Given the description of an element on the screen output the (x, y) to click on. 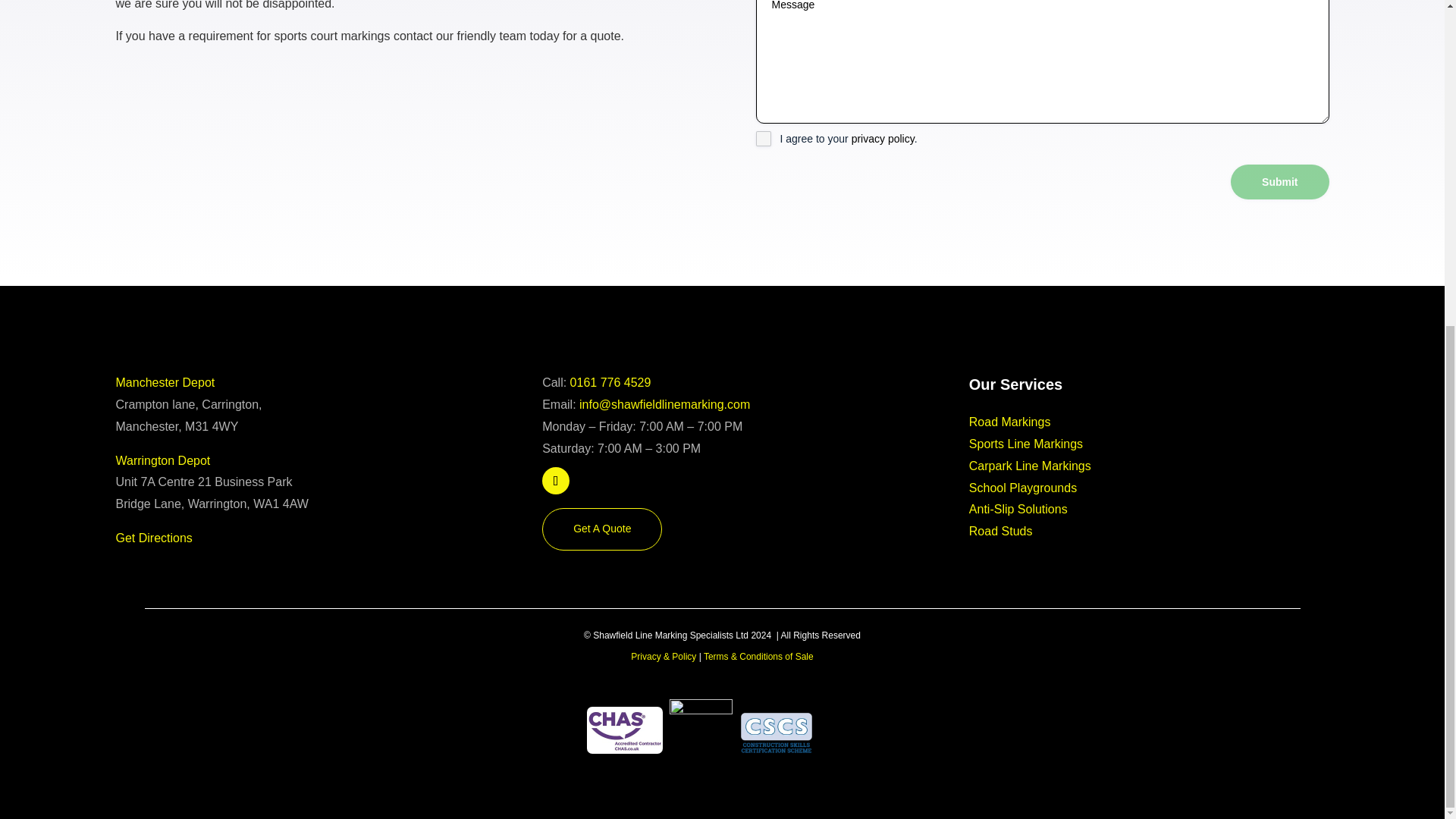
privacy policy (882, 138)
Get A Quote (601, 528)
Get Directions (153, 537)
0161 776 4529 (610, 382)
Follow on Facebook (555, 480)
Submit (1278, 181)
Road Markings (1010, 421)
Carpark Line Markings (1029, 465)
Manchester Depot (164, 382)
Submit (1278, 181)
